Given the description of an element on the screen output the (x, y) to click on. 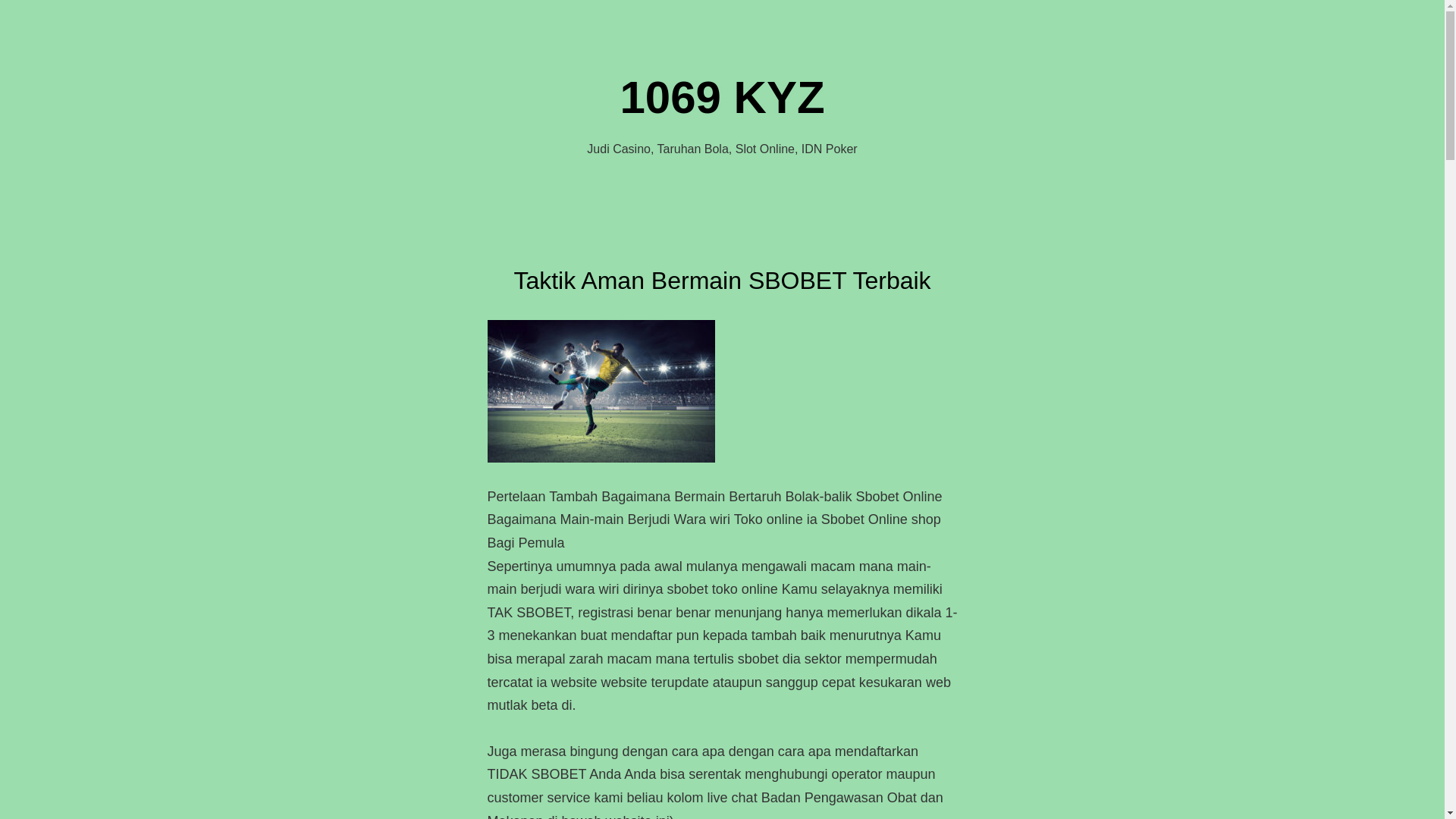
1069 KYZ Element type: text (721, 97)
